Given the description of an element on the screen output the (x, y) to click on. 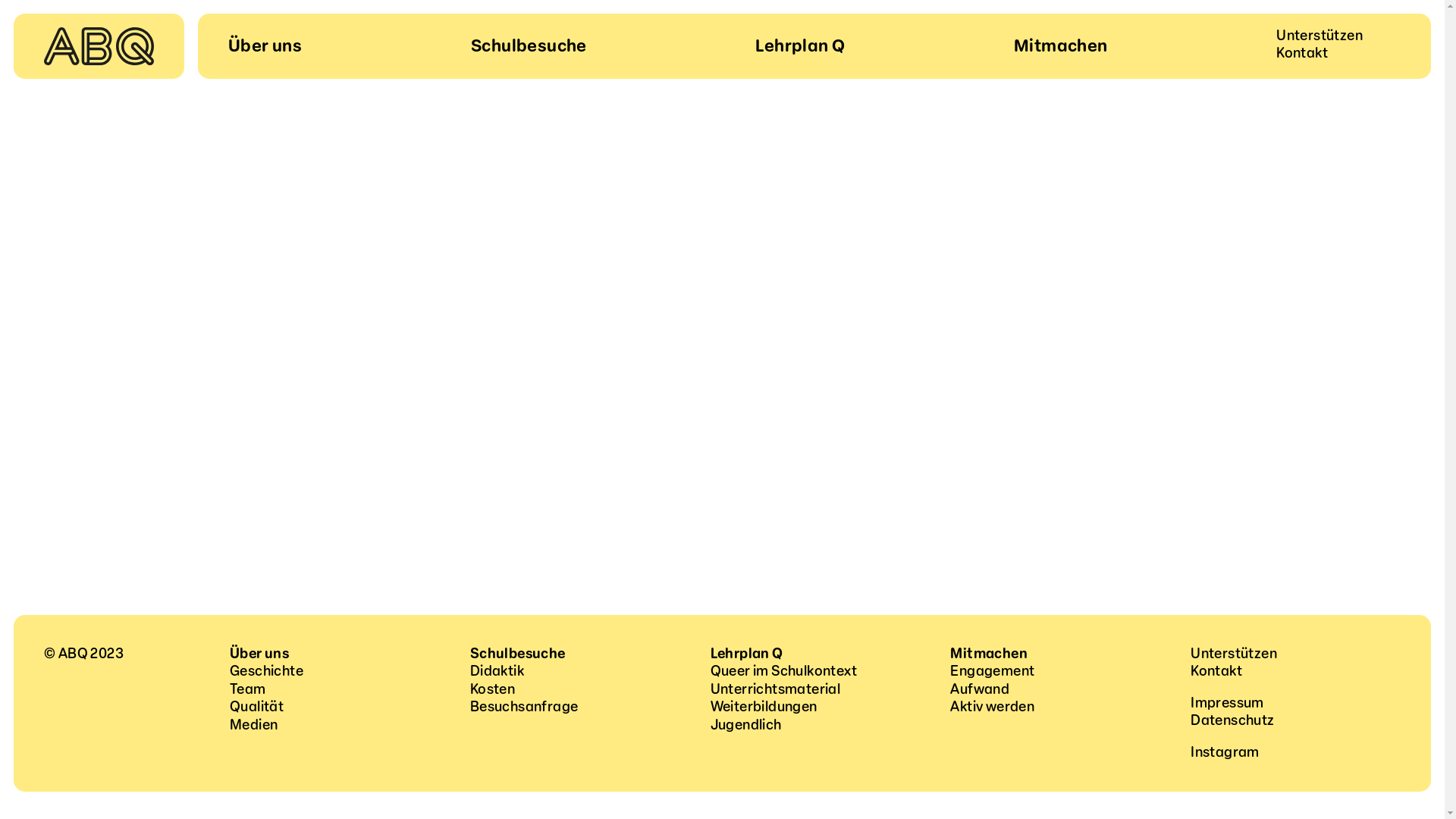
Besuchsanfrage Element type: text (524, 706)
Team Element type: text (247, 688)
Lehrplan Q Element type: text (799, 46)
Geschichte Element type: text (266, 670)
Jugendlich Element type: text (745, 724)
Datenschutz Element type: text (1232, 720)
Aufwand Element type: text (979, 688)
Kontakt Element type: text (1216, 670)
Engagement Element type: text (992, 670)
Schulbesuche Element type: text (528, 46)
Didaktik Element type: text (497, 670)
Kontakt Element type: text (1301, 53)
Aktiv werden Element type: text (992, 706)
Weiterbildungen Element type: text (763, 706)
Schulbesuche Element type: text (517, 653)
Instagram Element type: text (1224, 751)
Lehrplan Q Element type: text (746, 653)
Kosten Element type: text (492, 688)
Queer im Schulkontext Element type: text (783, 670)
Mitmachen Element type: text (988, 653)
Mitmachen Element type: text (1060, 46)
Unterrichtsmaterial Element type: text (775, 688)
Medien Element type: text (253, 724)
Impressum Element type: text (1227, 702)
